Given the description of an element on the screen output the (x, y) to click on. 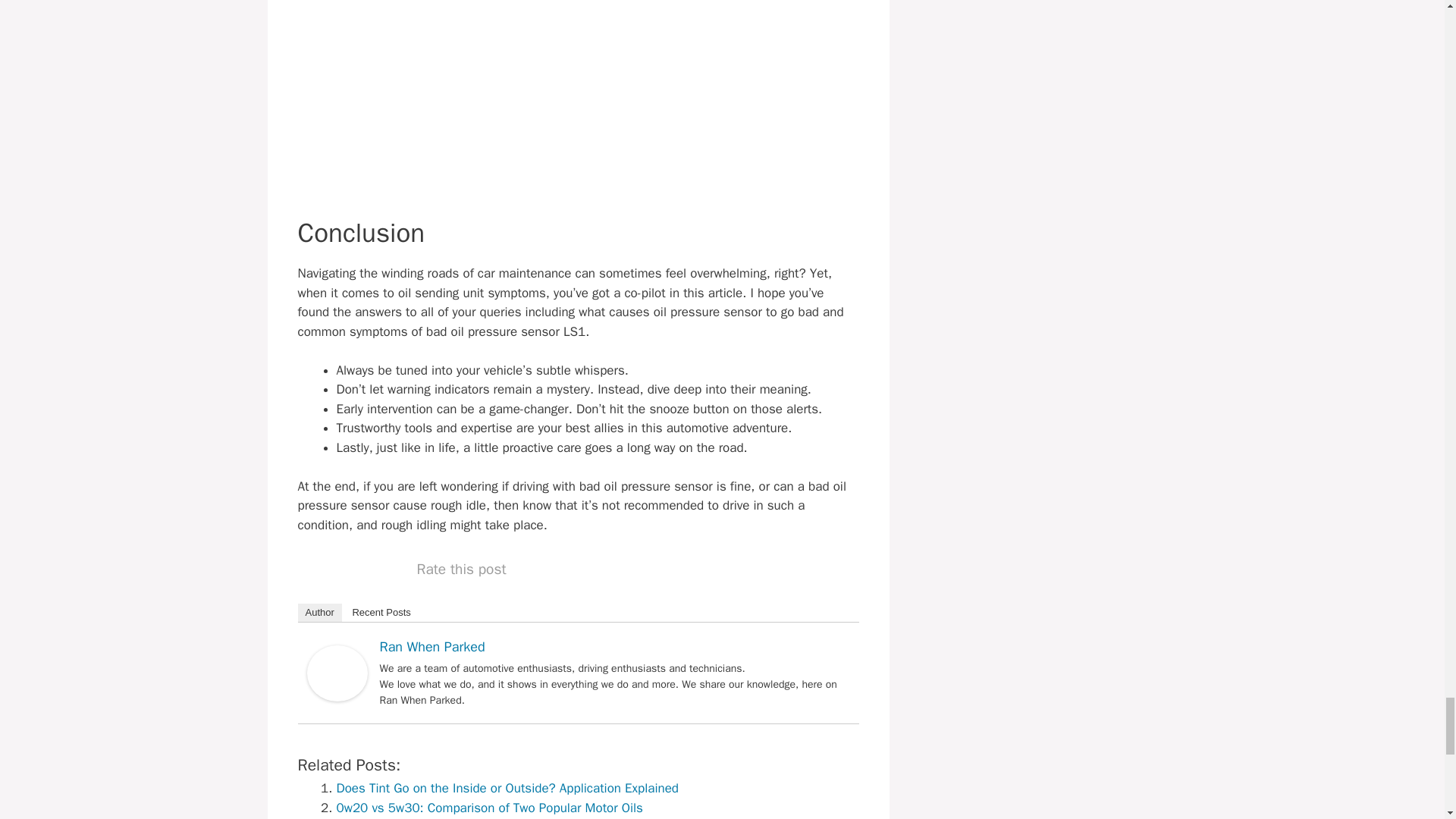
0w20 vs 5w30: Comparison of Two Popular Motor Oils (489, 807)
Ran When Parked (335, 697)
Does Tint Go on the Inside or Outside? Application Explained (507, 788)
